Given the description of an element on the screen output the (x, y) to click on. 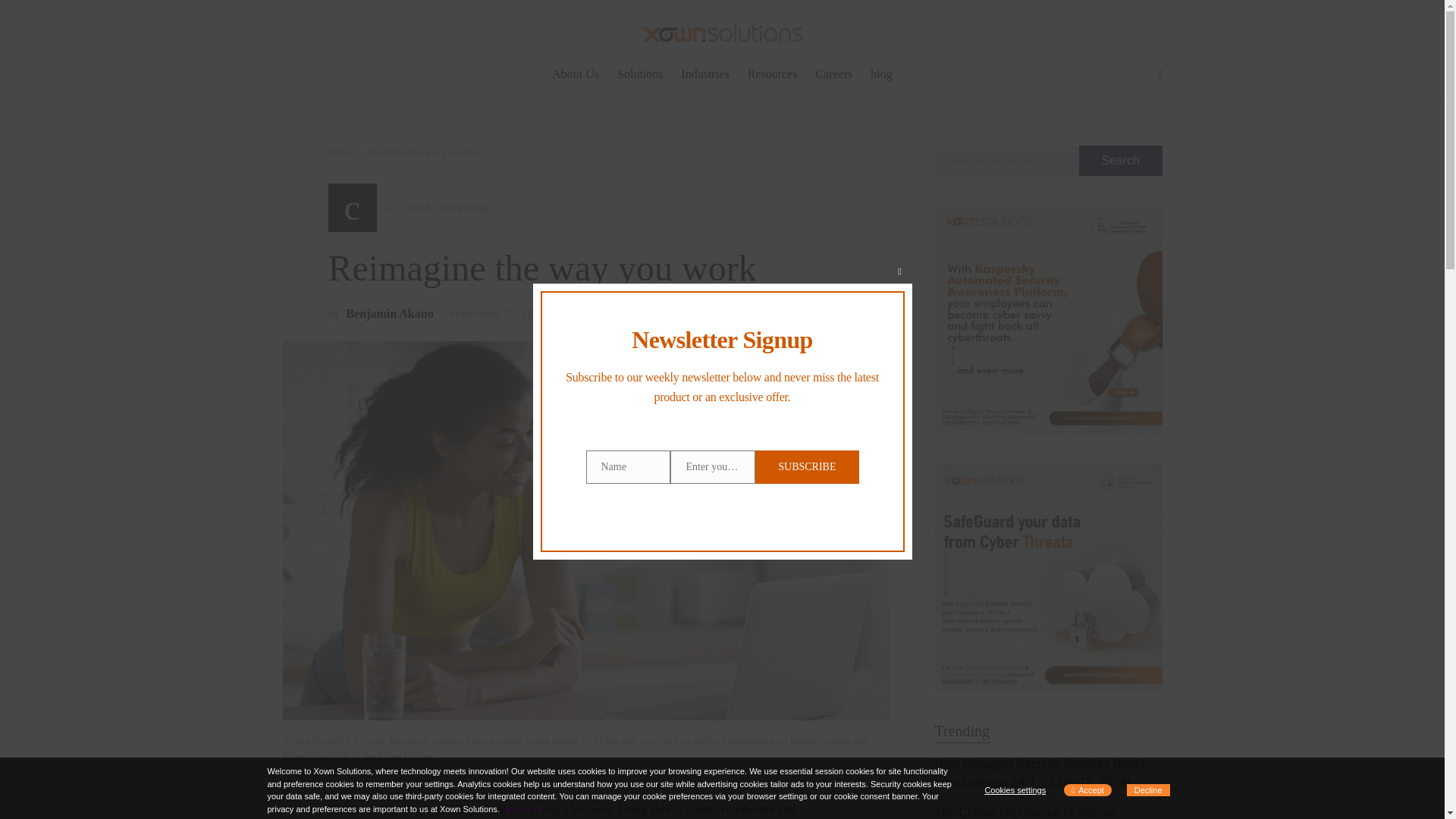
Benjamin Akano (389, 313)
About Us (579, 74)
Solutions (407, 207)
Careers (639, 74)
View all posts by Benjamin Akano (833, 74)
Search (389, 313)
Industries (1119, 160)
Home (705, 74)
blog (338, 152)
Resources (876, 74)
